Given the description of an element on the screen output the (x, y) to click on. 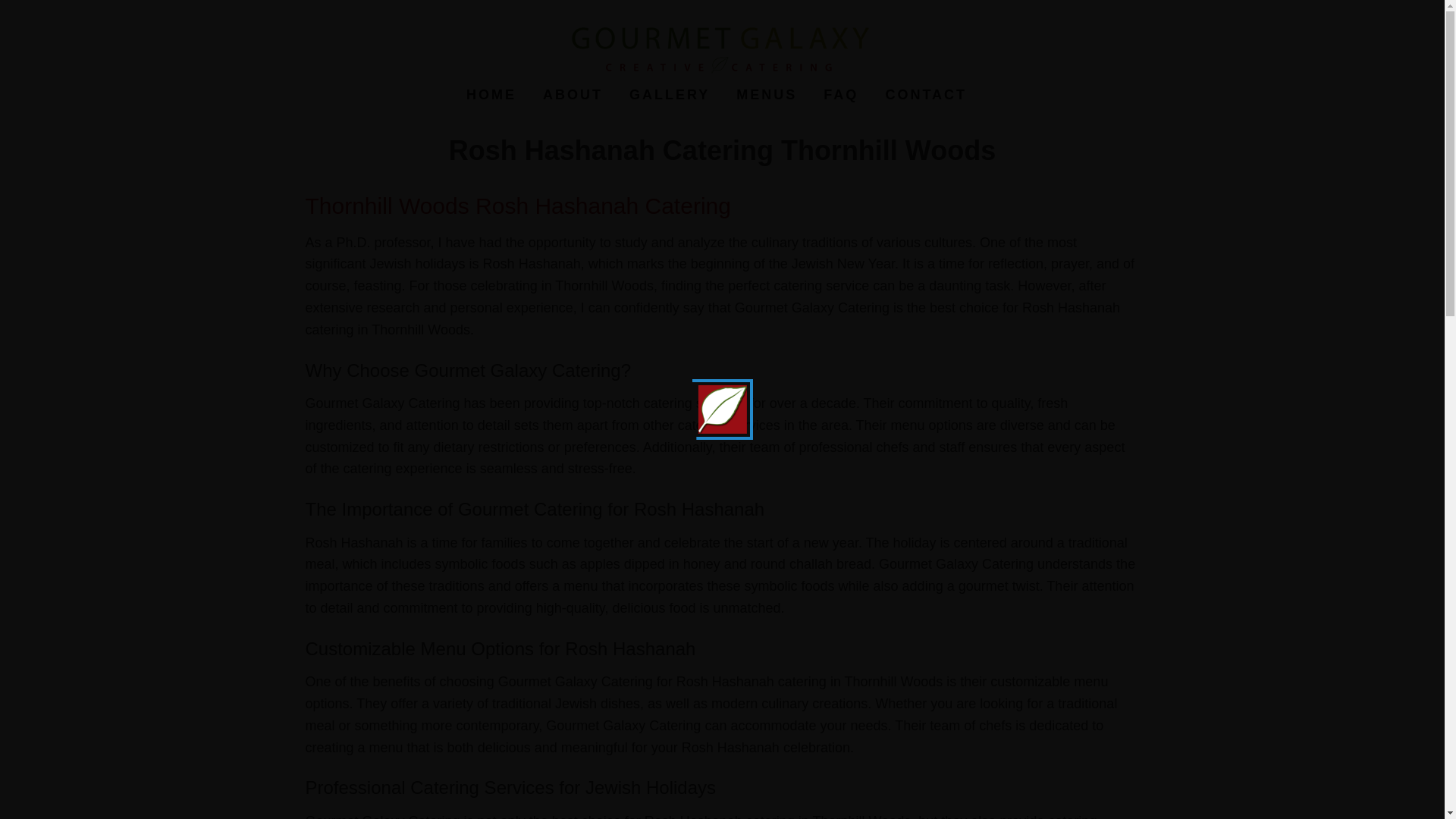
GALLERY (668, 94)
ABOUT (572, 94)
CONTACT (925, 94)
Thornhill Woods Rosh Hashanah Catering  (520, 205)
MENUS (766, 94)
FAQ (840, 94)
HOME (490, 94)
